Given the description of an element on the screen output the (x, y) to click on. 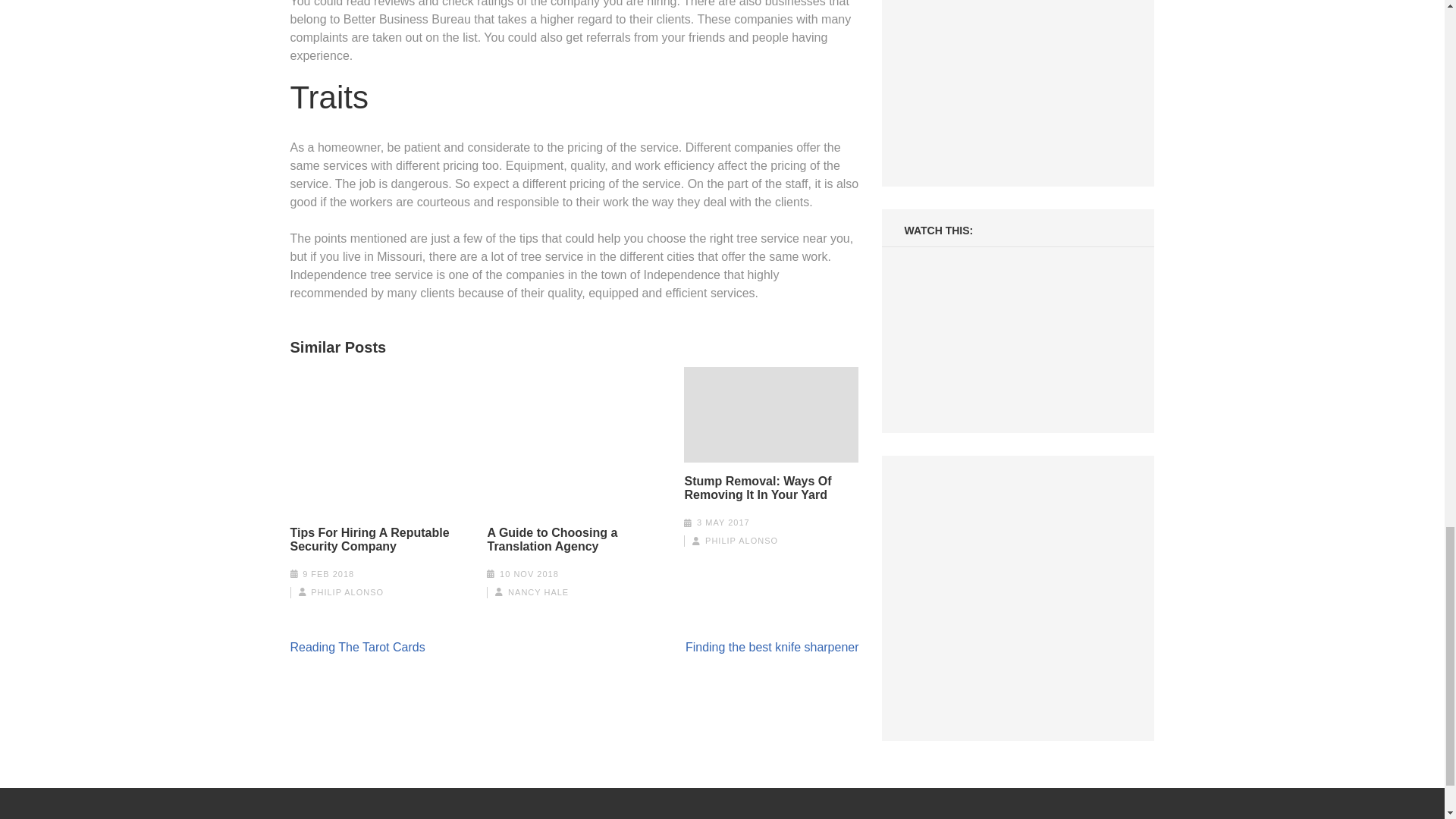
3 MAY 2017 (723, 522)
Reading The Tarot Cards (357, 646)
Finding the best knife sharpener (772, 646)
10 NOV 2018 (529, 573)
Stump Removal: Ways Of Removing It In Your Yard (771, 488)
NANCY HALE (538, 592)
PHILIP ALONSO (347, 592)
Tips For Hiring A Reputable Security Company (376, 539)
A Guide to Choosing a Translation Agency (573, 539)
PHILIP ALONSO (740, 540)
9 FEB 2018 (327, 573)
